Given the description of an element on the screen output the (x, y) to click on. 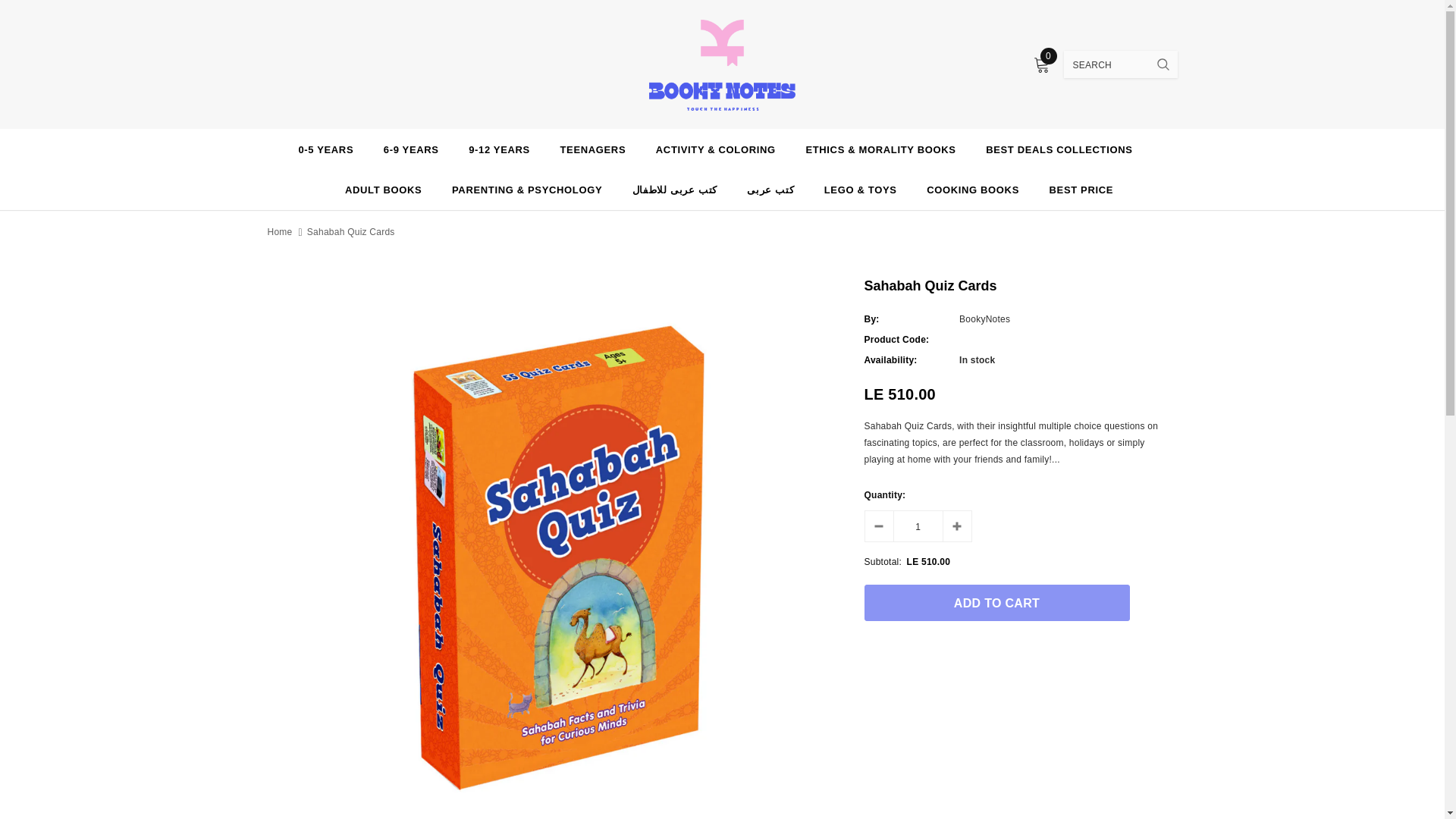
Cart Icon (1040, 64)
0 (1040, 64)
Logo (721, 63)
Add to Cart (996, 602)
1 (917, 525)
